Given the description of an element on the screen output the (x, y) to click on. 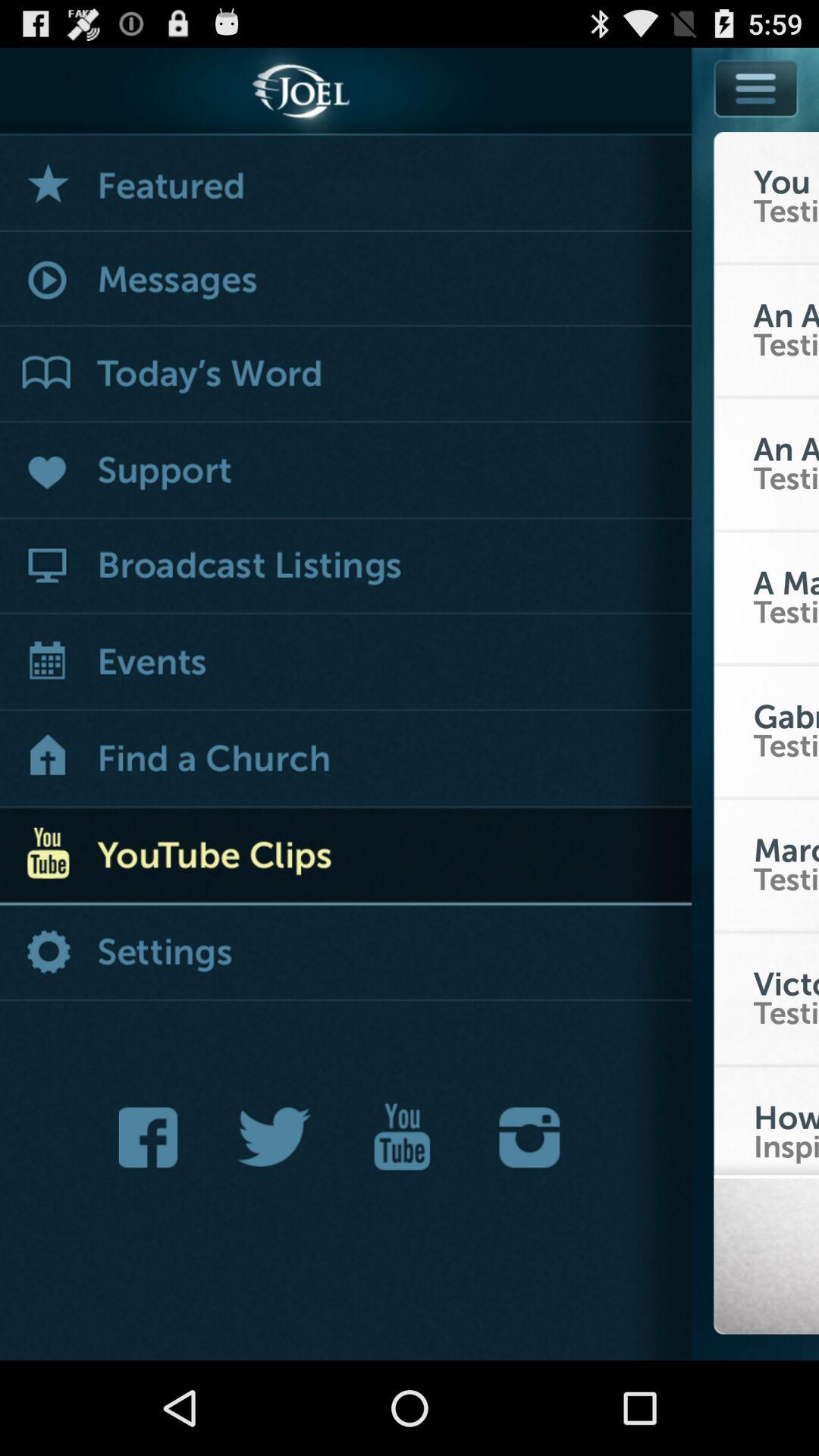
toggle menu (755, 88)
